Given the description of an element on the screen output the (x, y) to click on. 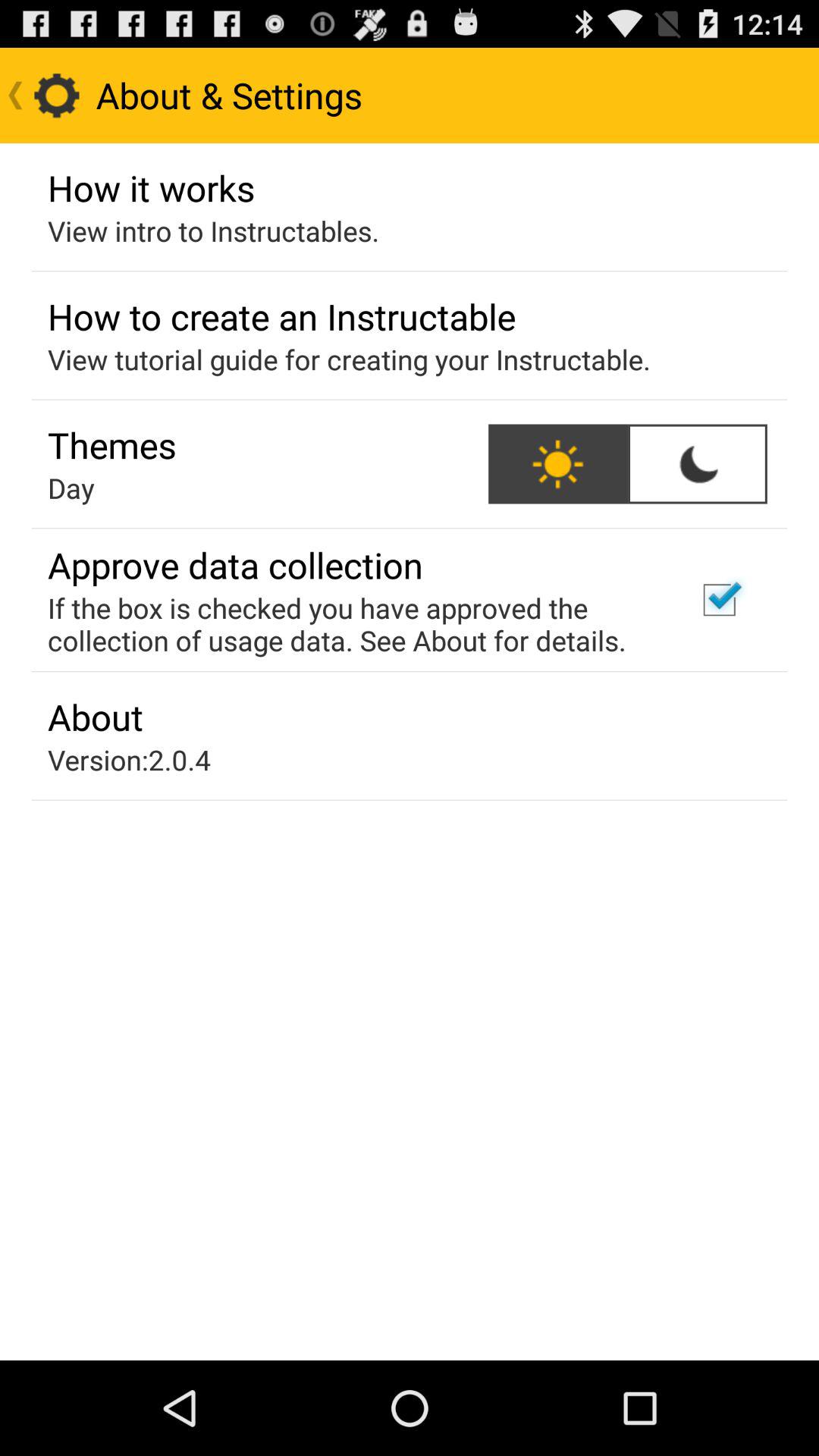
choose the icon on the right (719, 599)
